Given the description of an element on the screen output the (x, y) to click on. 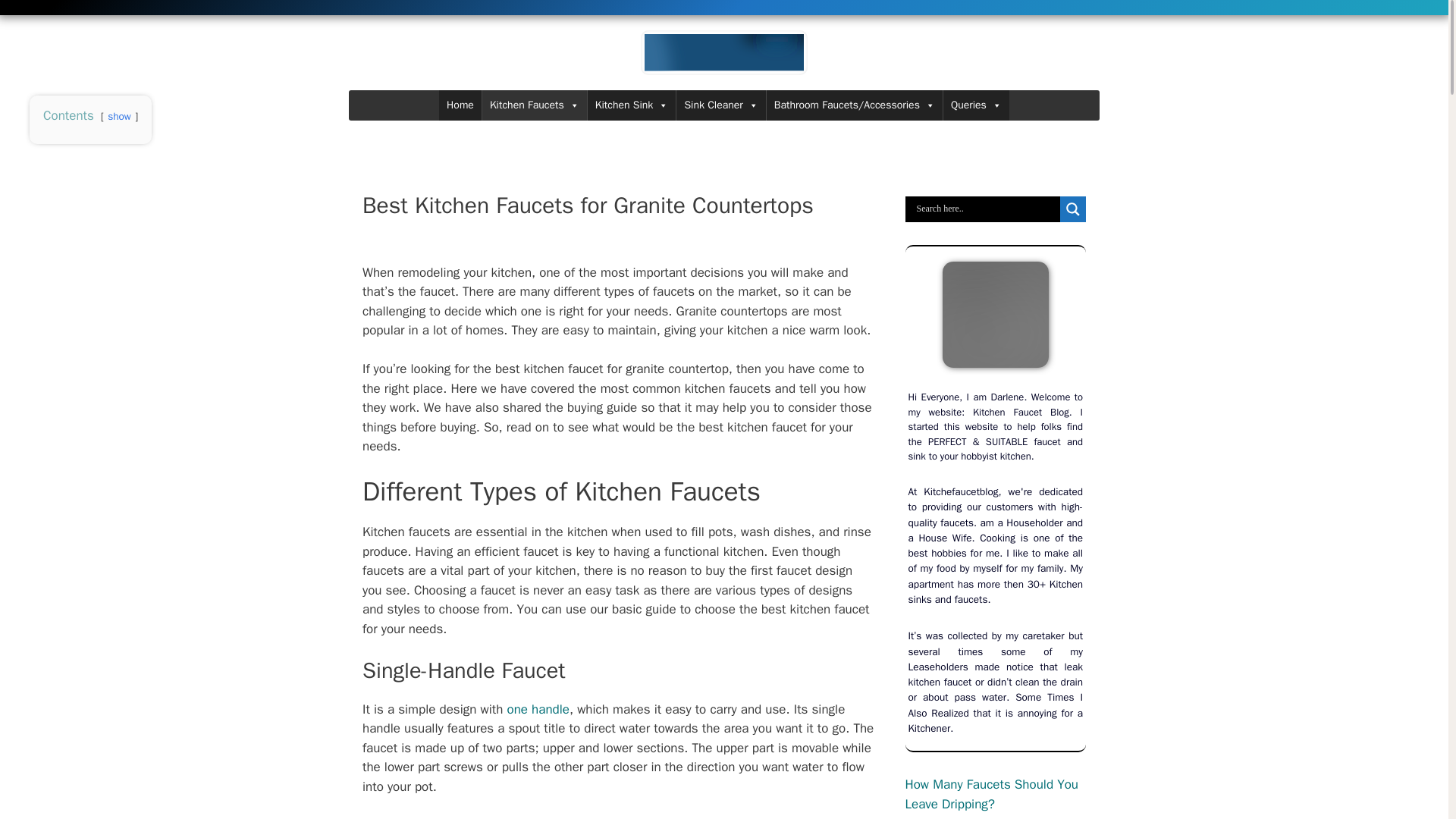
Home (460, 105)
Kitchen Faucets (533, 105)
